Given the description of an element on the screen output the (x, y) to click on. 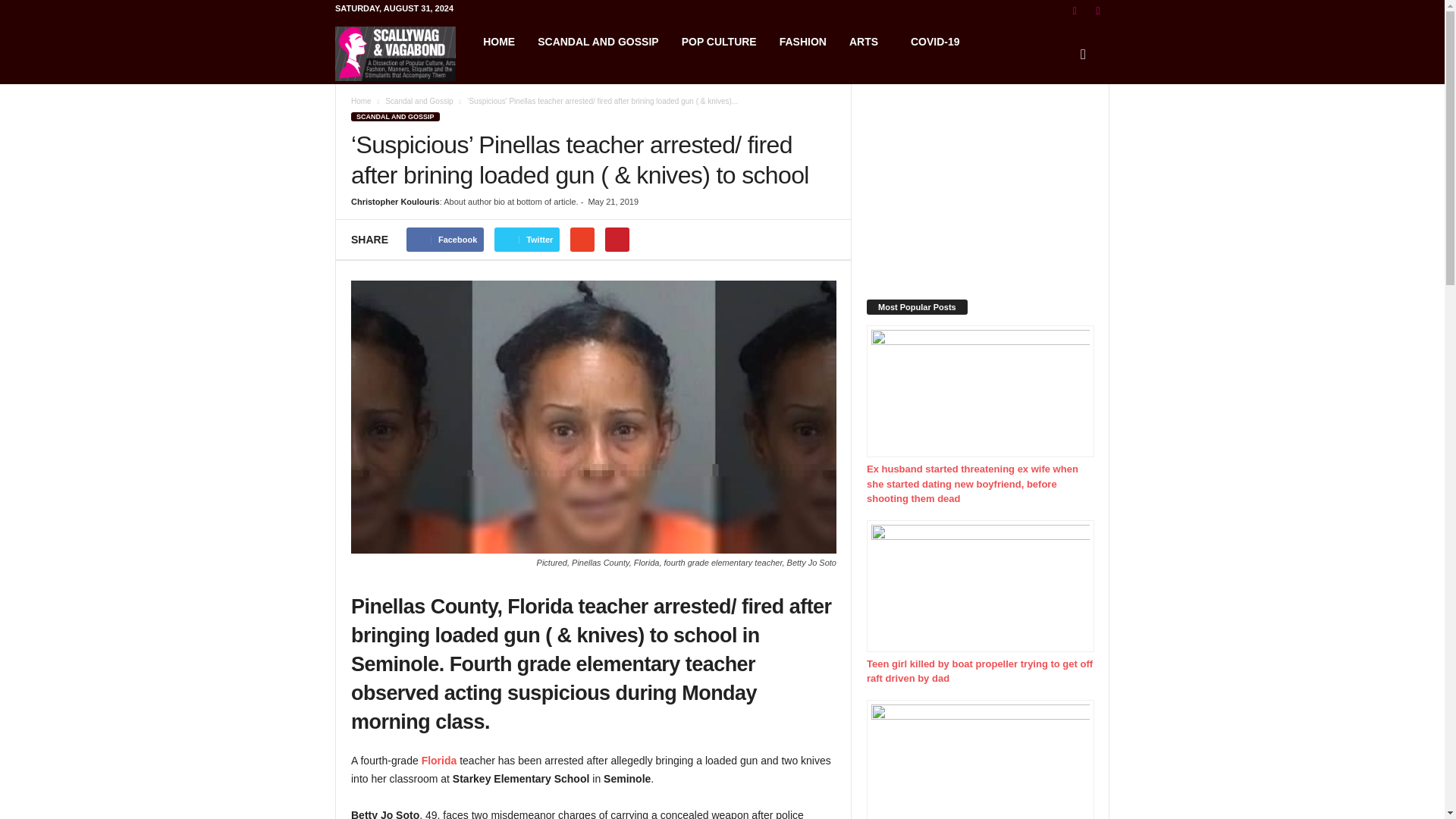
HOME (498, 41)
SCANDAL AND GOSSIP (597, 41)
COVID-19 (935, 41)
POP CULTURE (718, 41)
Florida (439, 760)
FASHION (803, 41)
Twitter (527, 239)
SCANDAL AND GOSSIP (394, 116)
Home (360, 101)
View all posts in Scandal and Gossip (418, 101)
